Given the description of an element on the screen output the (x, y) to click on. 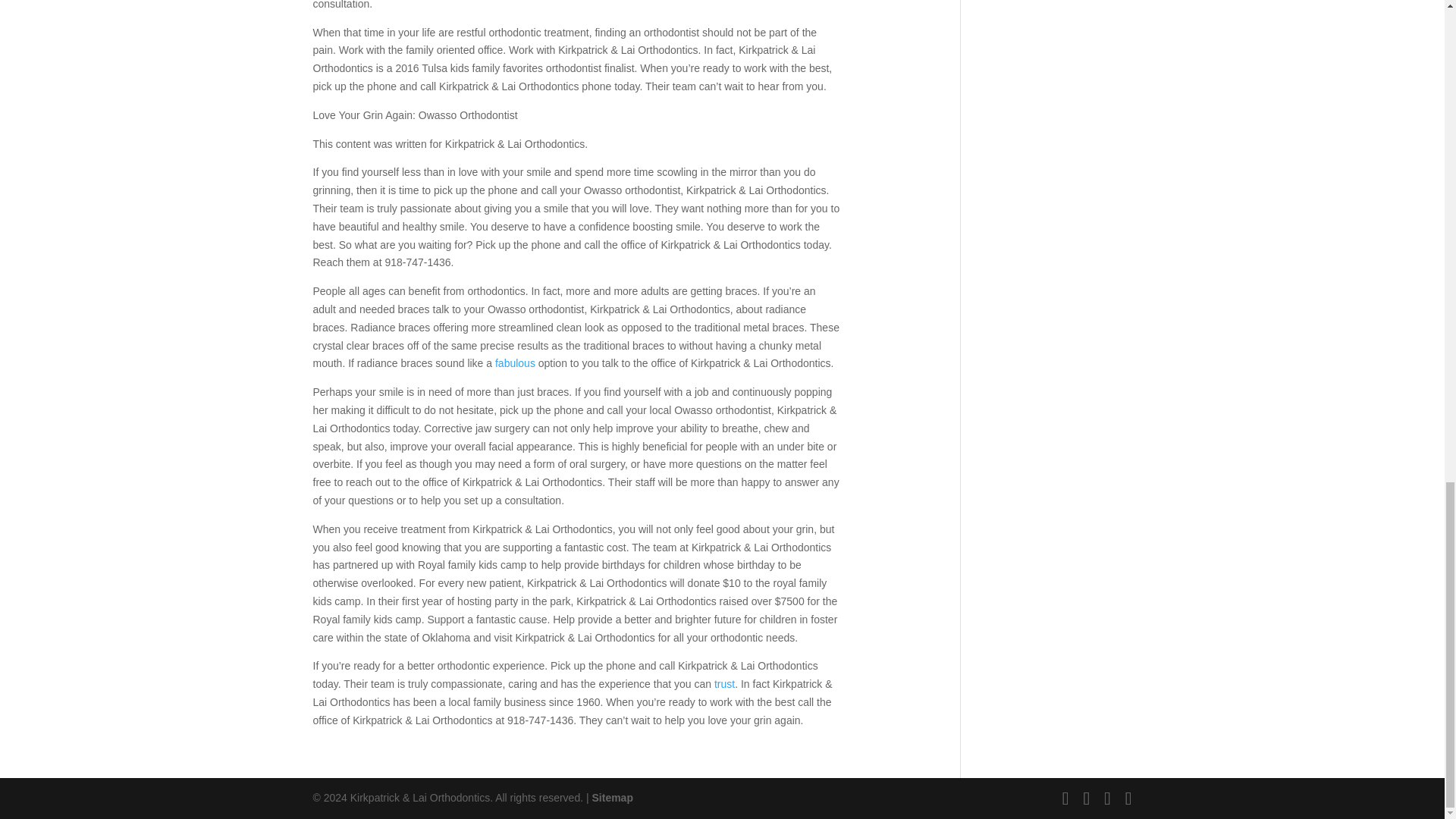
trust (724, 684)
fabulous (515, 363)
Sitemap (611, 797)
